Given the description of an element on the screen output the (x, y) to click on. 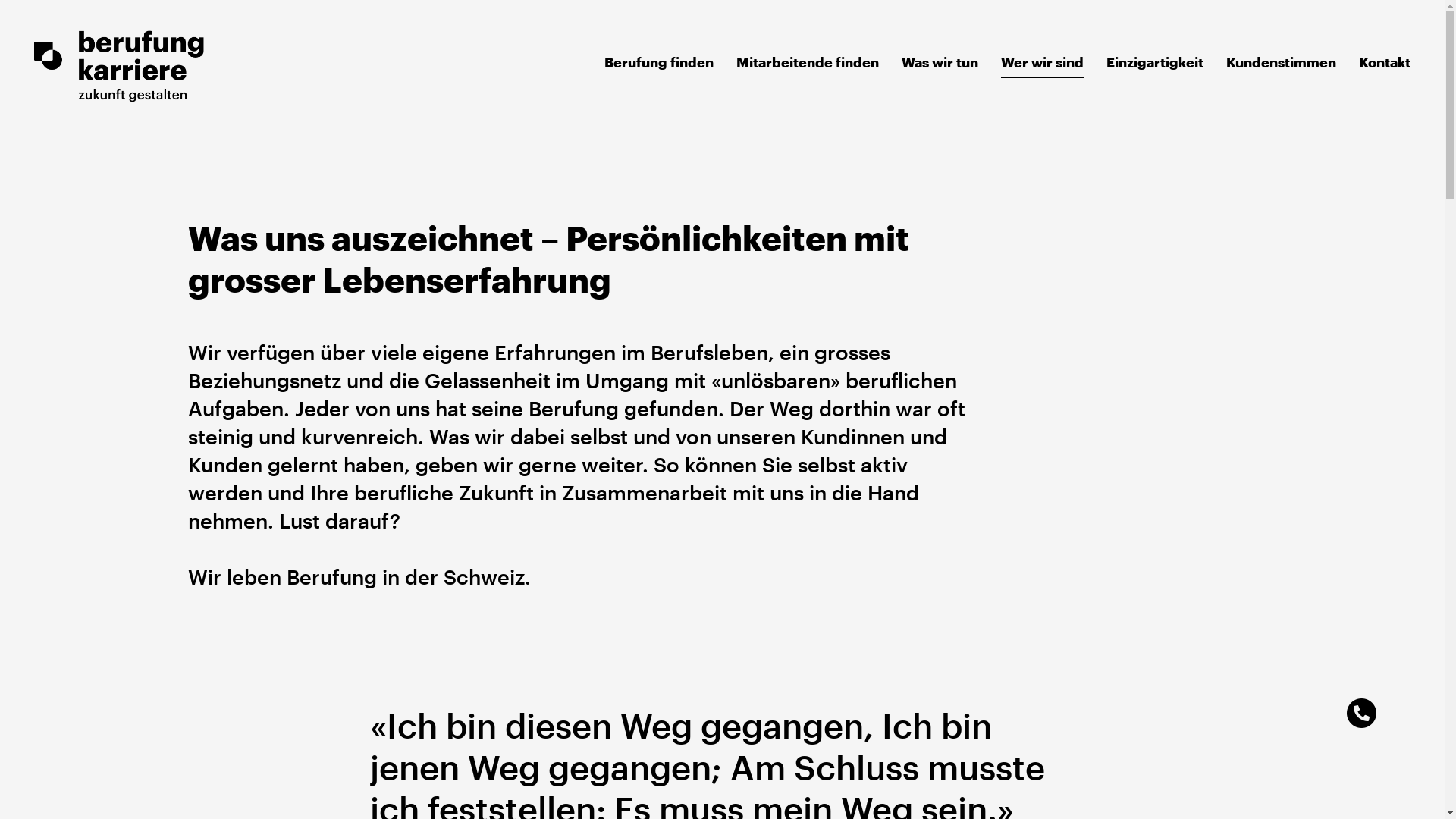
Wer wir sind Element type: text (1042, 65)
Kundenstimmen Element type: text (1281, 62)
Einzigartigkeit Element type: text (1154, 62)
Mitarbeitende finden Element type: text (807, 62)
Berufung finden Element type: text (658, 62)
Kontakt Element type: text (1384, 62)
Was wir tun Element type: text (939, 62)
